Given the description of an element on the screen output the (x, y) to click on. 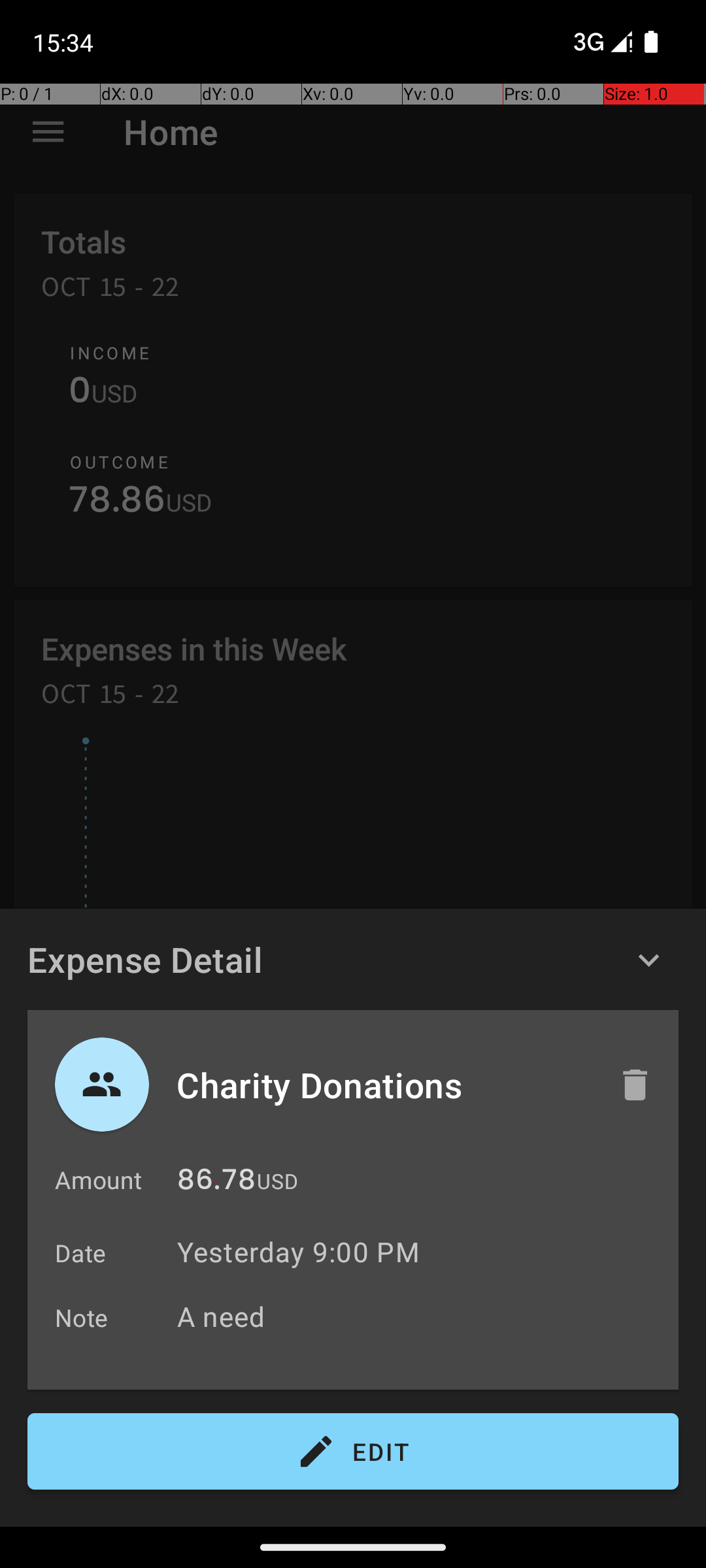
Charity Donations Element type: android.widget.TextView (383, 1084)
86.78 Element type: android.widget.TextView (216, 1182)
Yesterday 9:00 PM Element type: android.widget.TextView (298, 1251)
A need Element type: android.widget.TextView (420, 1315)
